Given the description of an element on the screen output the (x, y) to click on. 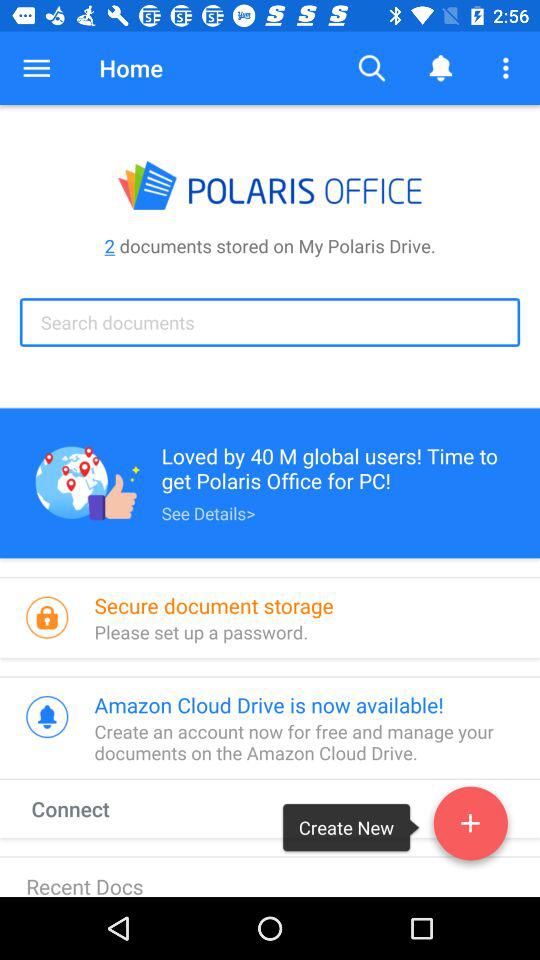
select item to the left of create new icon (89, 808)
